Given the description of an element on the screen output the (x, y) to click on. 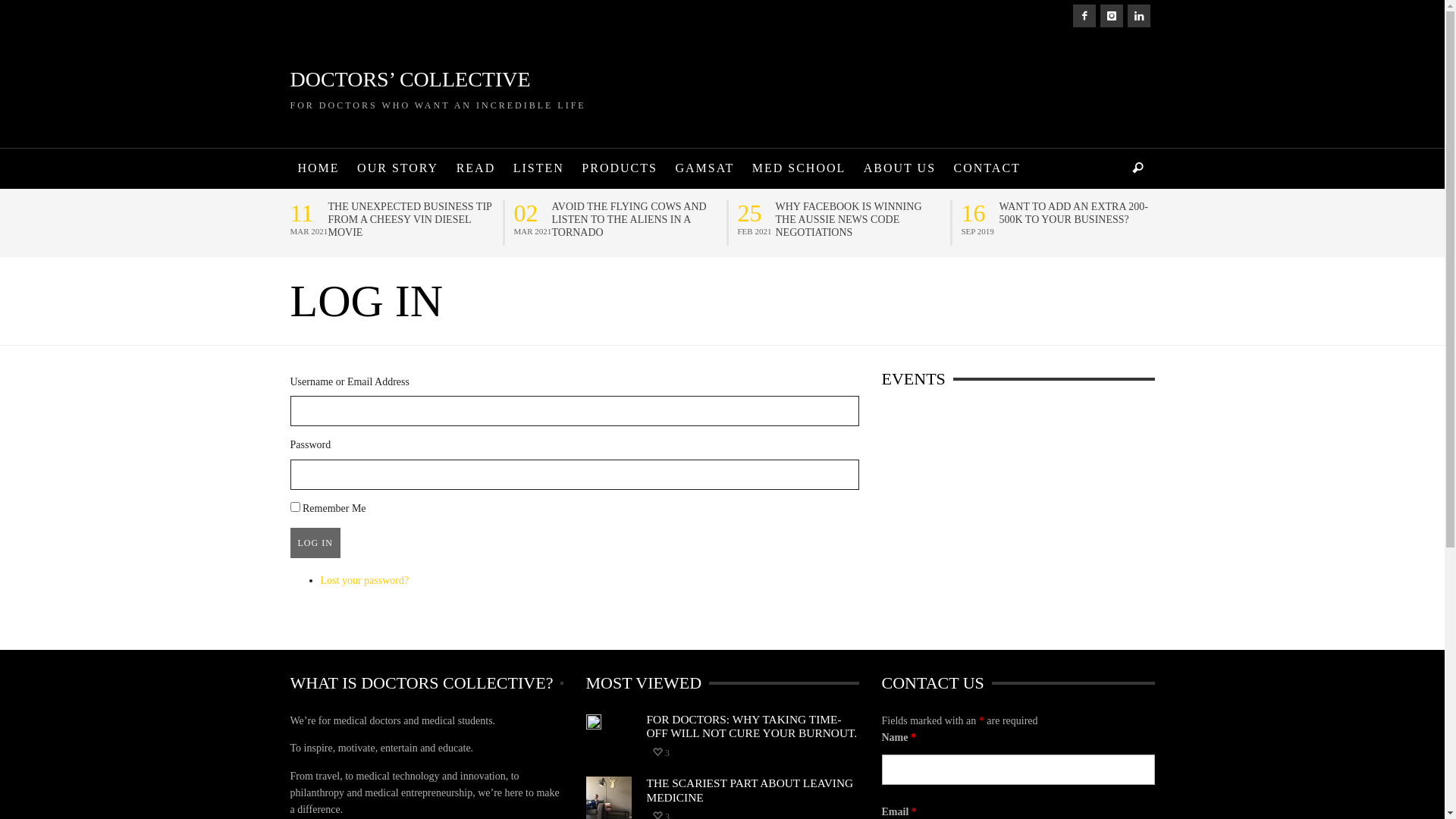
OUR STORY Element type: text (397, 168)
WANT TO ADD AN EXTRA 200-500K TO YOUR BUSINESS? Element type: text (1082, 212)
3 Element type: text (661, 752)
ABOUT US Element type: text (899, 168)
MED SCHOOL Element type: text (798, 168)
GAMSAT Element type: text (704, 168)
AVOID THE FLYING COWS AND LISTEN TO THE ALIENS IN A TORNADO Element type: text (635, 219)
READ Element type: text (475, 168)
LISTEN Element type: text (538, 168)
THE UNEXPECTED BUSINESS TIP FROM A CHEESY VIN DIESEL MOVIE Element type: text (410, 219)
Log In Element type: text (314, 542)
THE SCARIEST PART ABOUT LEAVING MEDICINE Element type: text (749, 789)
CONTACT Element type: text (987, 168)
FOR DOCTORS: WHY TAKING TIME-OFF WILL NOT CURE YOUR BURNOUT. Element type: text (751, 725)
LinkedIn Element type: hover (1137, 15)
HOME Element type: text (317, 168)
Facebook Element type: hover (1083, 15)
WHY FACEBOOK IS WINNING THE AUSSIE NEWS CODE NEGOTIATIONS Element type: text (858, 219)
Instagram Element type: hover (1110, 15)
PRODUCTS Element type: text (619, 168)
Lost your password? Element type: text (364, 580)
